Given the description of an element on the screen output the (x, y) to click on. 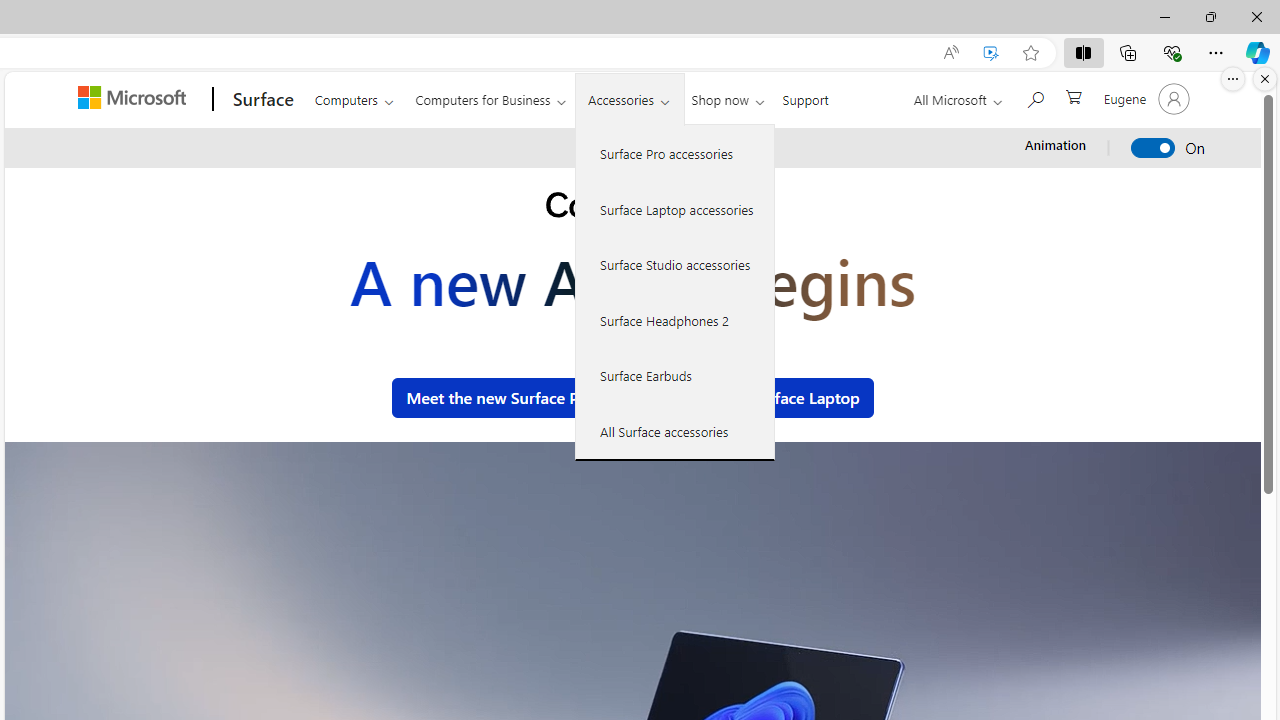
Support (805, 96)
Surface Headphones 2 (675, 319)
Surface Studio accessories (675, 264)
Surface Earbuds (675, 375)
Meet the new Surface Laptop (753, 397)
Search Microsoft.com (1034, 97)
All Surface accessories (675, 431)
Account manager for Eugene (1144, 98)
Animation On (1153, 147)
Microsoft (135, 99)
